Given the description of an element on the screen output the (x, y) to click on. 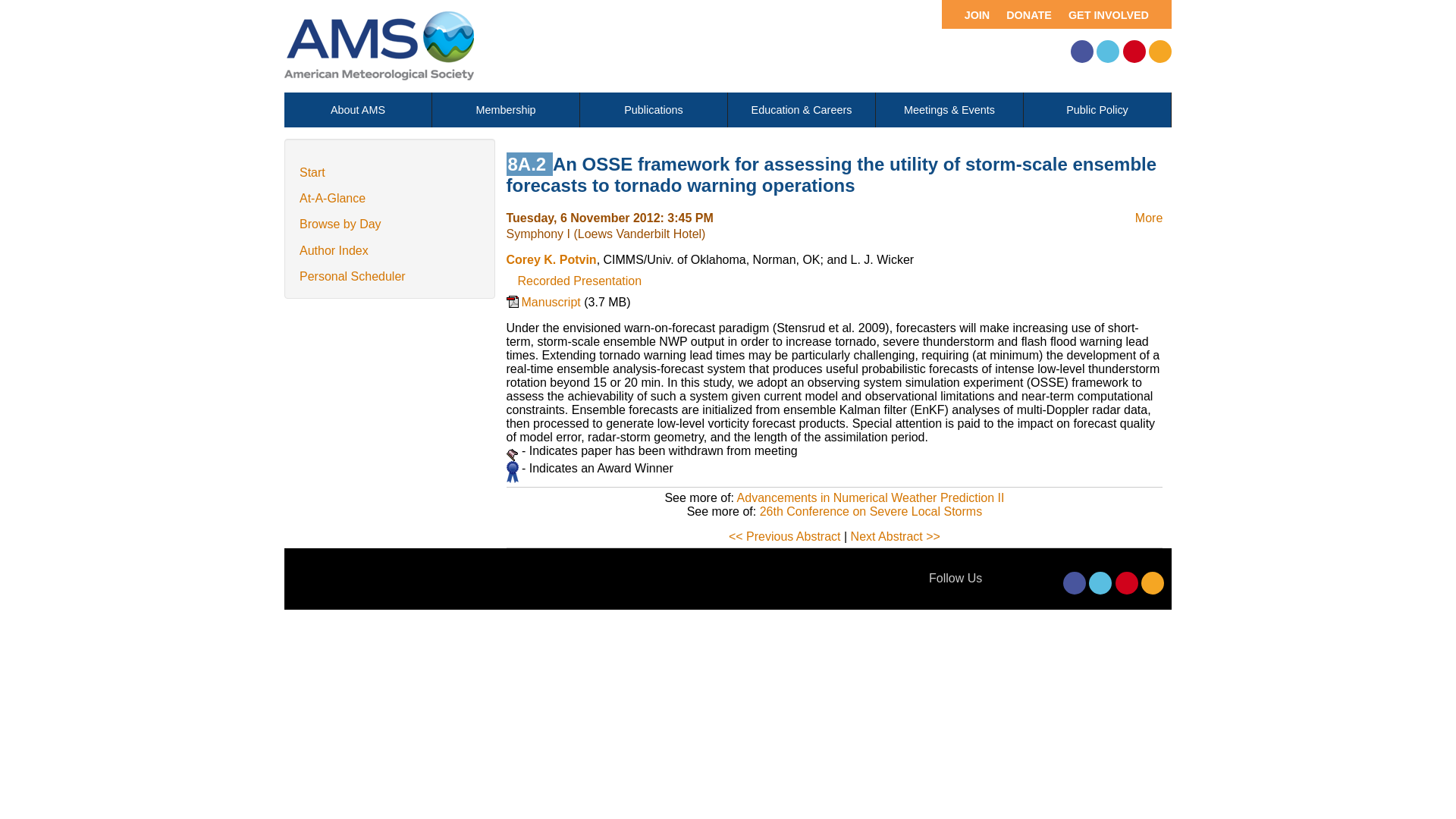
Personal Scheduler (352, 276)
GET INVOLVED (1114, 14)
Twitter (1100, 582)
Author Index (333, 250)
Manuscript (545, 309)
Publications (652, 109)
Browse by Day (340, 223)
YouTube (1126, 582)
26th Conference on Severe Local Storms (871, 511)
Recorded Presentation (579, 280)
Membership (505, 109)
Corey K. Potvin (551, 259)
RSS (1160, 51)
Twitter (1107, 51)
Public Policy (1096, 109)
